Given the description of an element on the screen output the (x, y) to click on. 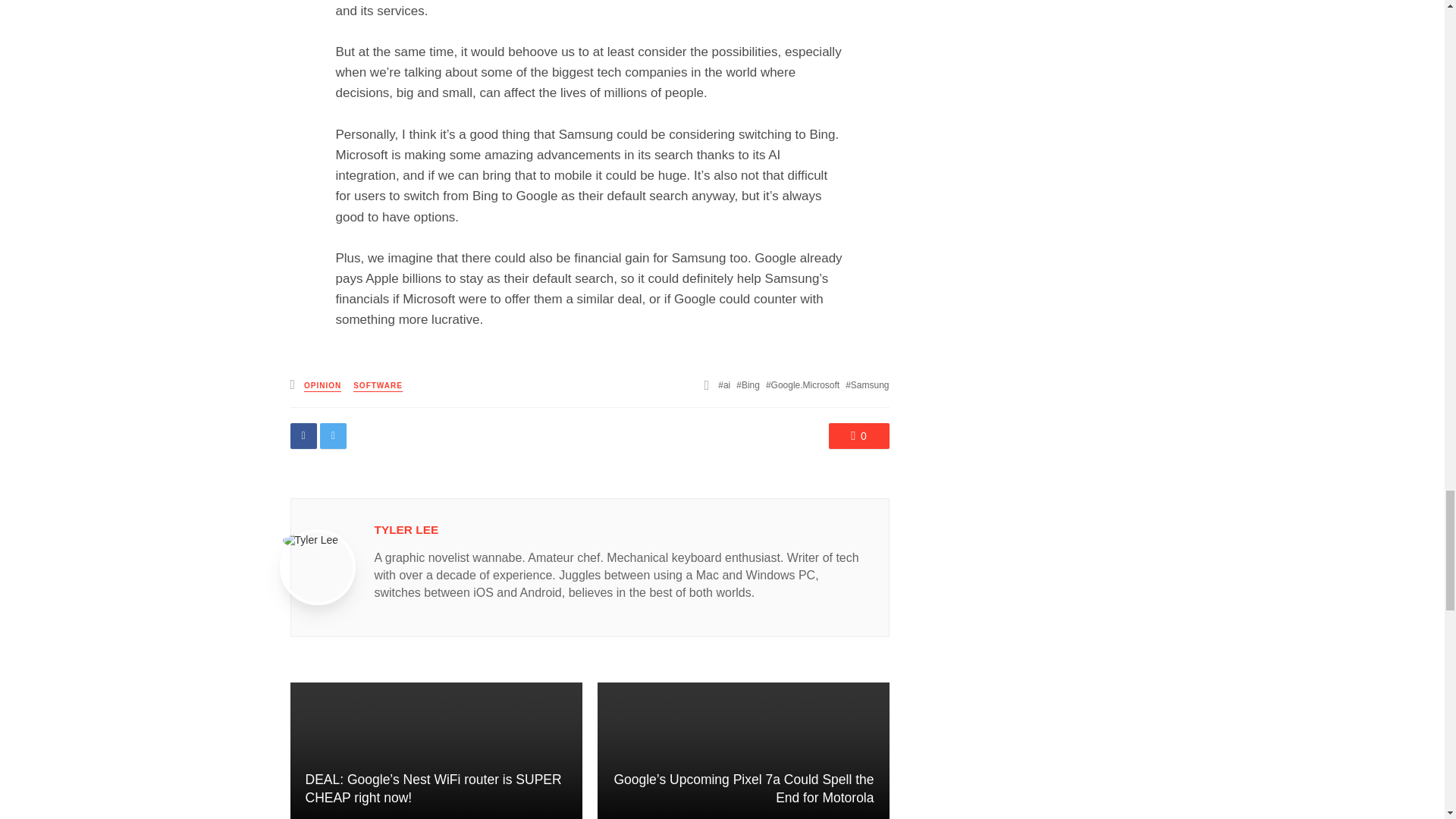
Bing (748, 385)
Google.Microsoft (802, 385)
Share on Facebook (302, 435)
Samsung (866, 385)
TYLER LEE (406, 529)
SOFTWARE (378, 386)
0 (858, 435)
ai (723, 385)
0 Comments (858, 435)
Posts by Tyler Lee (406, 529)
OPINION (322, 386)
Share on Twitter (333, 435)
